Given the description of an element on the screen output the (x, y) to click on. 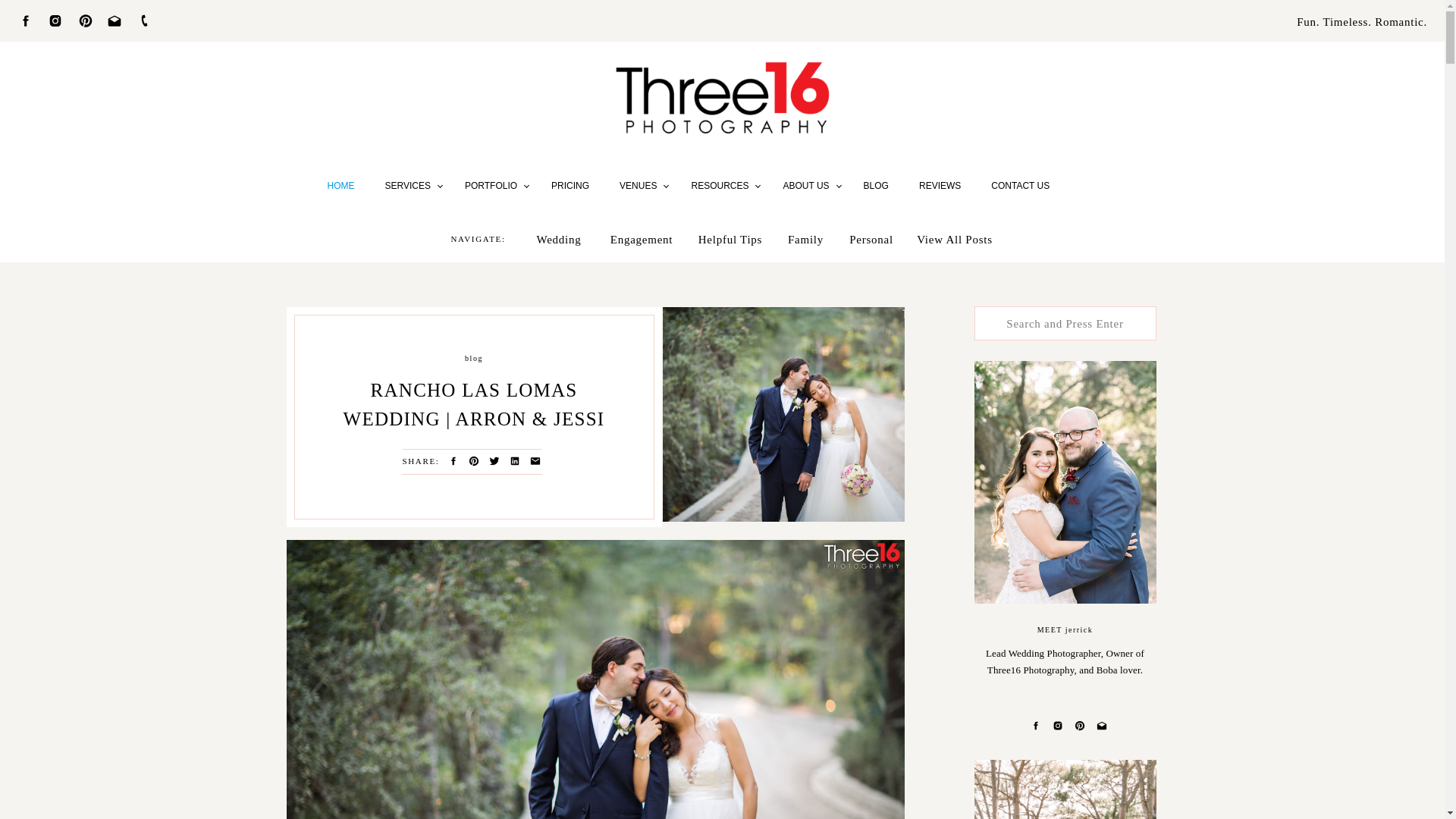
PORTFOLIO (492, 185)
PRICING (569, 185)
HOME (341, 185)
SERVICES (409, 185)
VENUES (639, 185)
